Given the description of an element on the screen output the (x, y) to click on. 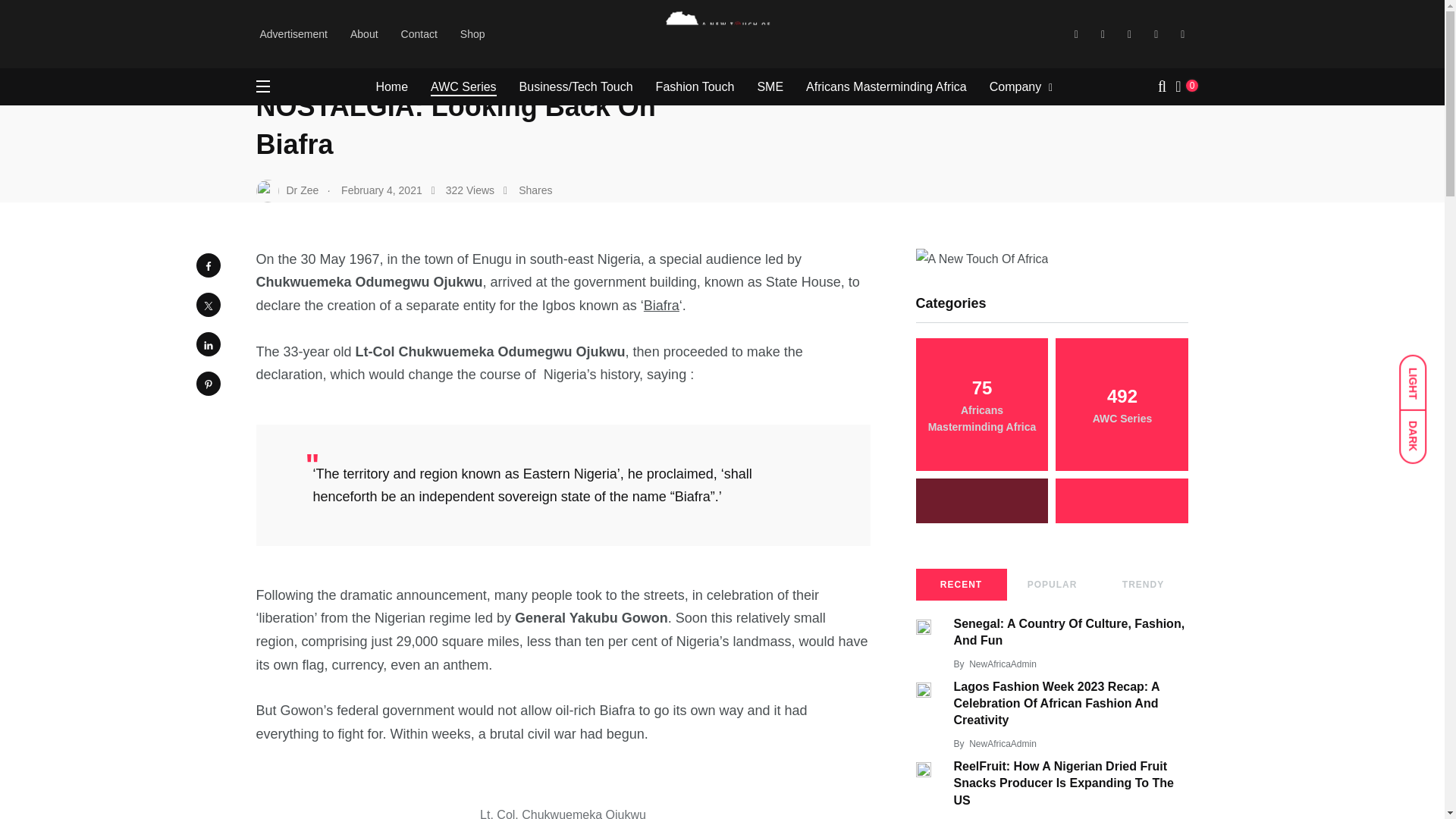
A New Touch Of Africa (308, 23)
Advertisement (292, 33)
Fashion Touch (695, 86)
About (364, 33)
AWC Series (463, 86)
Share on Pinterest (207, 383)
Share on Twitter (207, 304)
Dark Mode (1419, 428)
Go to the AWC Series Category archives. (452, 23)
Share on LinkedIn (207, 344)
Africans Masterminding Africa (886, 86)
Contact (419, 33)
SME (770, 86)
Go to A New Touch Of Africa. (308, 23)
Shop (472, 33)
